Given the description of an element on the screen output the (x, y) to click on. 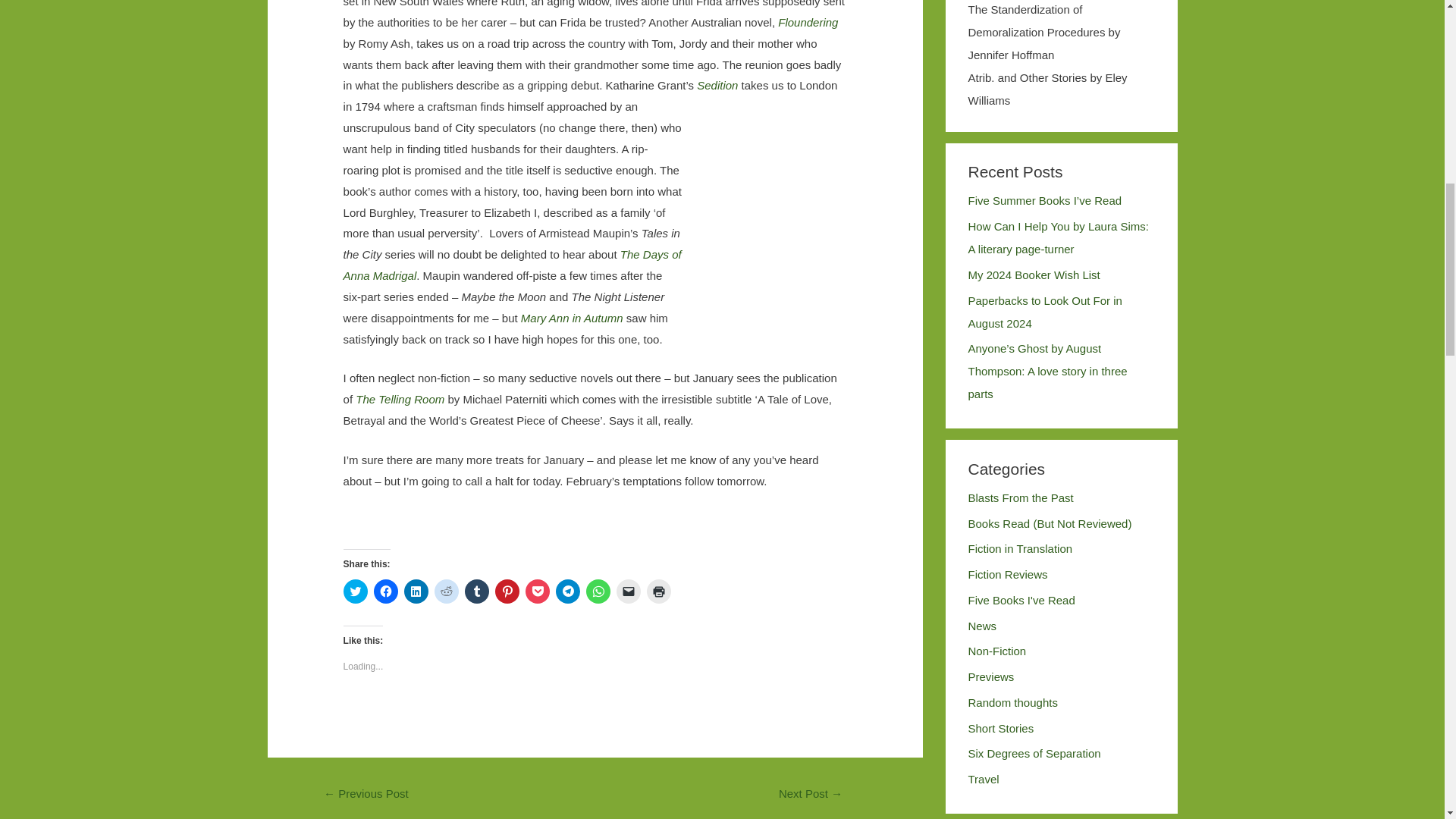
The Telling Room (399, 399)
Mary Ann in Autumn (572, 318)
Sedition (717, 84)
Sedition (717, 84)
The Days of Anna Madrigal (512, 264)
Floundering (807, 21)
